Given the description of an element on the screen output the (x, y) to click on. 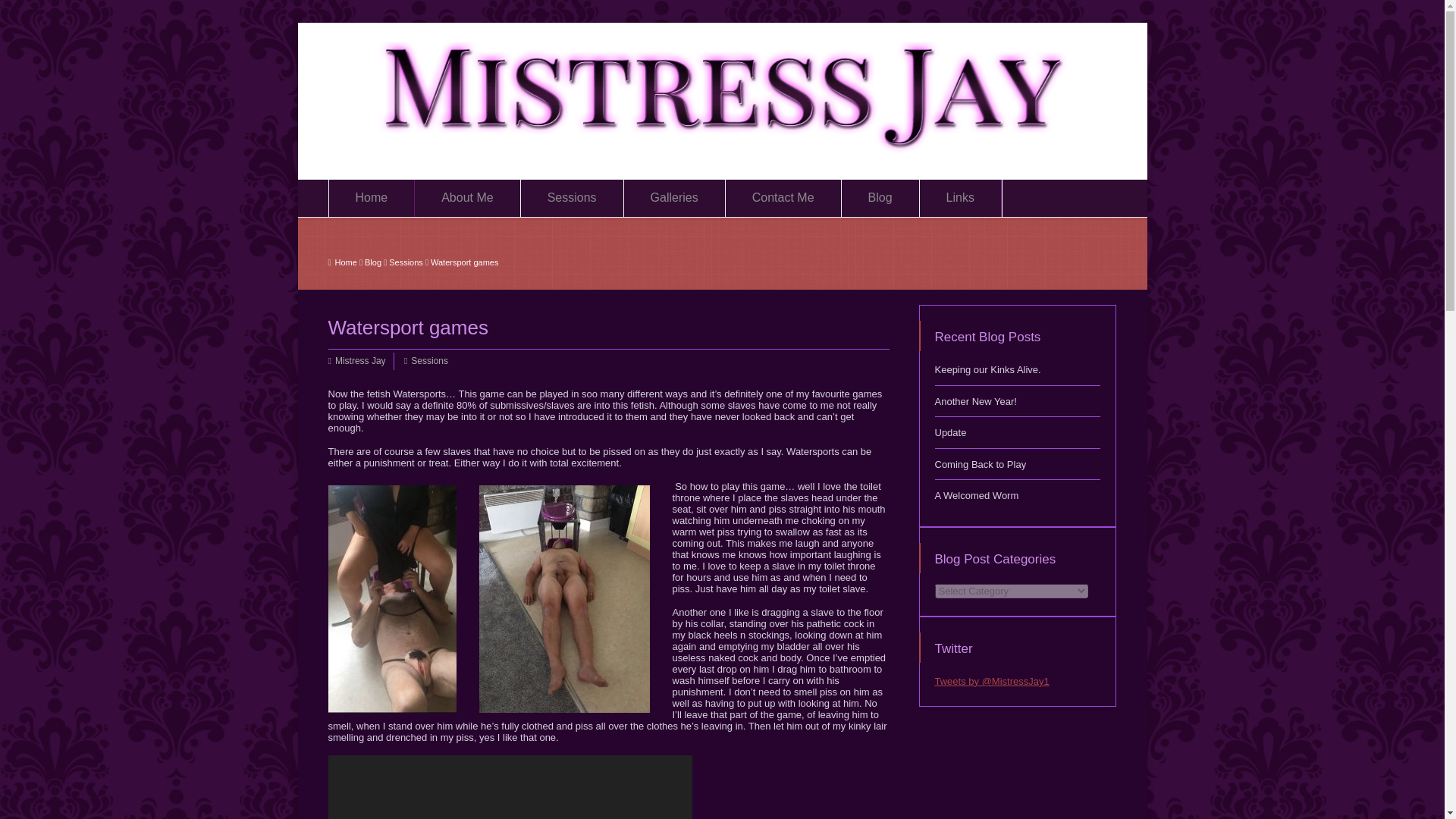
Sessions (572, 197)
Contact Me (783, 197)
About Me (466, 197)
Blog (373, 261)
Sessions (429, 361)
Galleries (674, 197)
Sessions (405, 261)
Home (371, 197)
Home (341, 261)
Posts by Mistress Jay (359, 361)
Mistress Jay (359, 361)
